Given the description of an element on the screen output the (x, y) to click on. 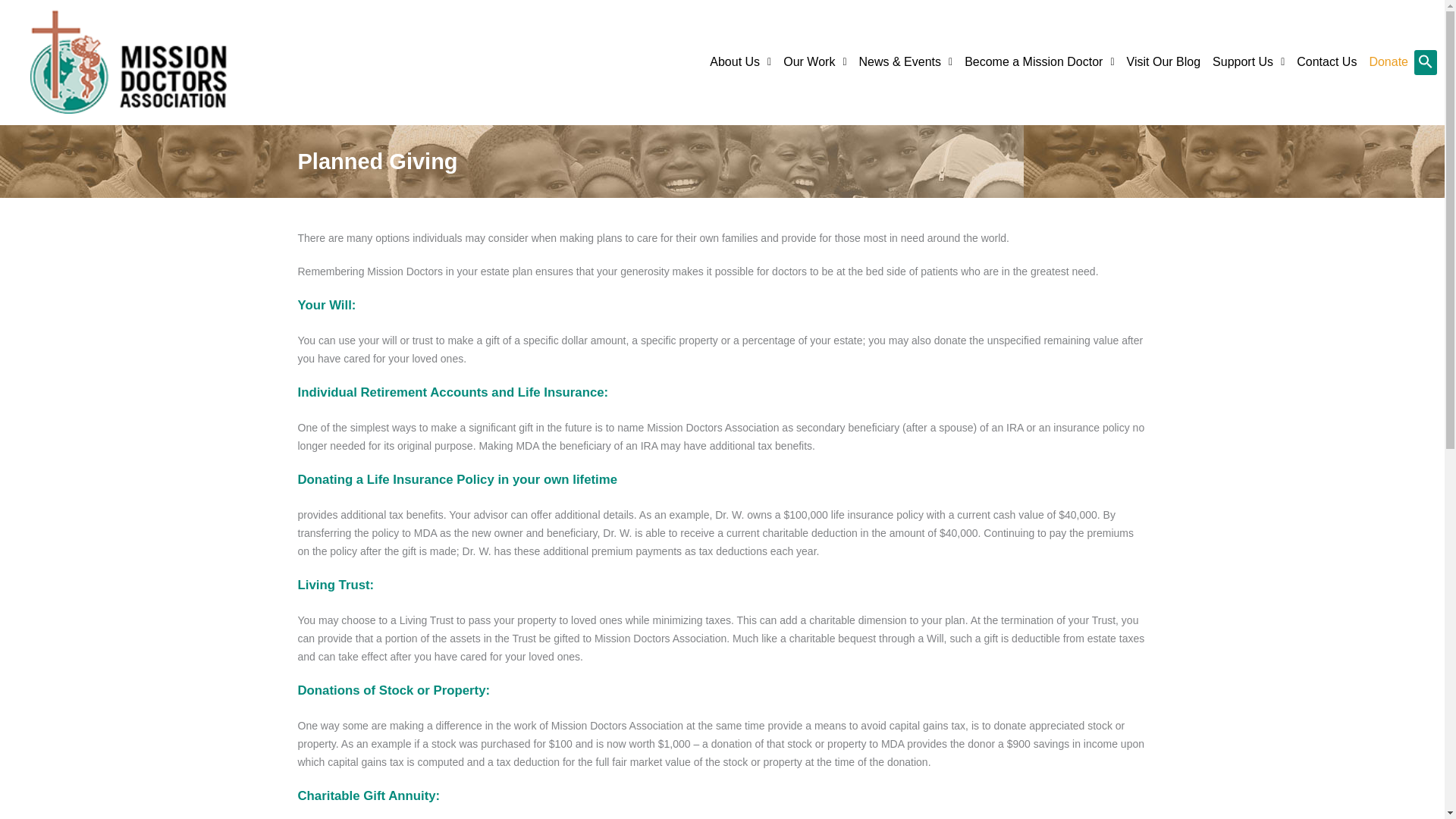
Visit Our Blog (1164, 62)
Become a Mission Doctor (1038, 62)
About Us (740, 62)
Our Work (814, 62)
Support Us (1248, 62)
